Given the description of an element on the screen output the (x, y) to click on. 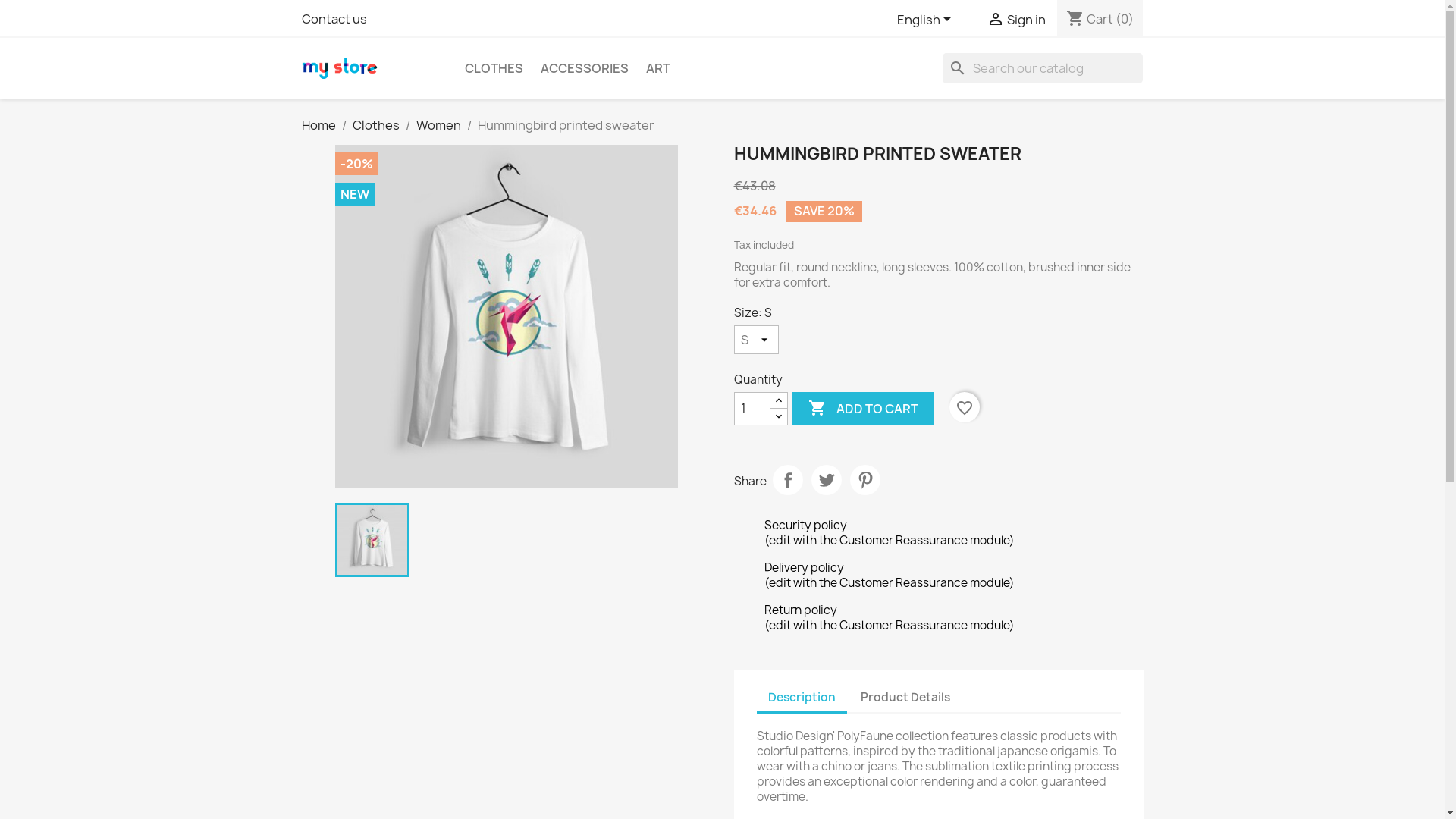
Brown bear printed sweater Element type: hover (372, 539)
CLOTHES Element type: text (493, 68)
ACCESSORIES Element type: text (583, 68)
Tweet Element type: text (826, 479)
Pinterest Element type: text (864, 479)
favorite_border Element type: text (964, 407)
Contact us Element type: text (334, 18)
Clothes Element type: text (374, 124)
Share Element type: text (786, 479)
Women Element type: text (437, 124)
Home Element type: text (318, 124)
Brown bear printed sweater Element type: hover (506, 315)
Description Element type: text (801, 698)
ART Element type: text (657, 68)
Product Details Element type: text (905, 697)
